Given the description of an element on the screen output the (x, y) to click on. 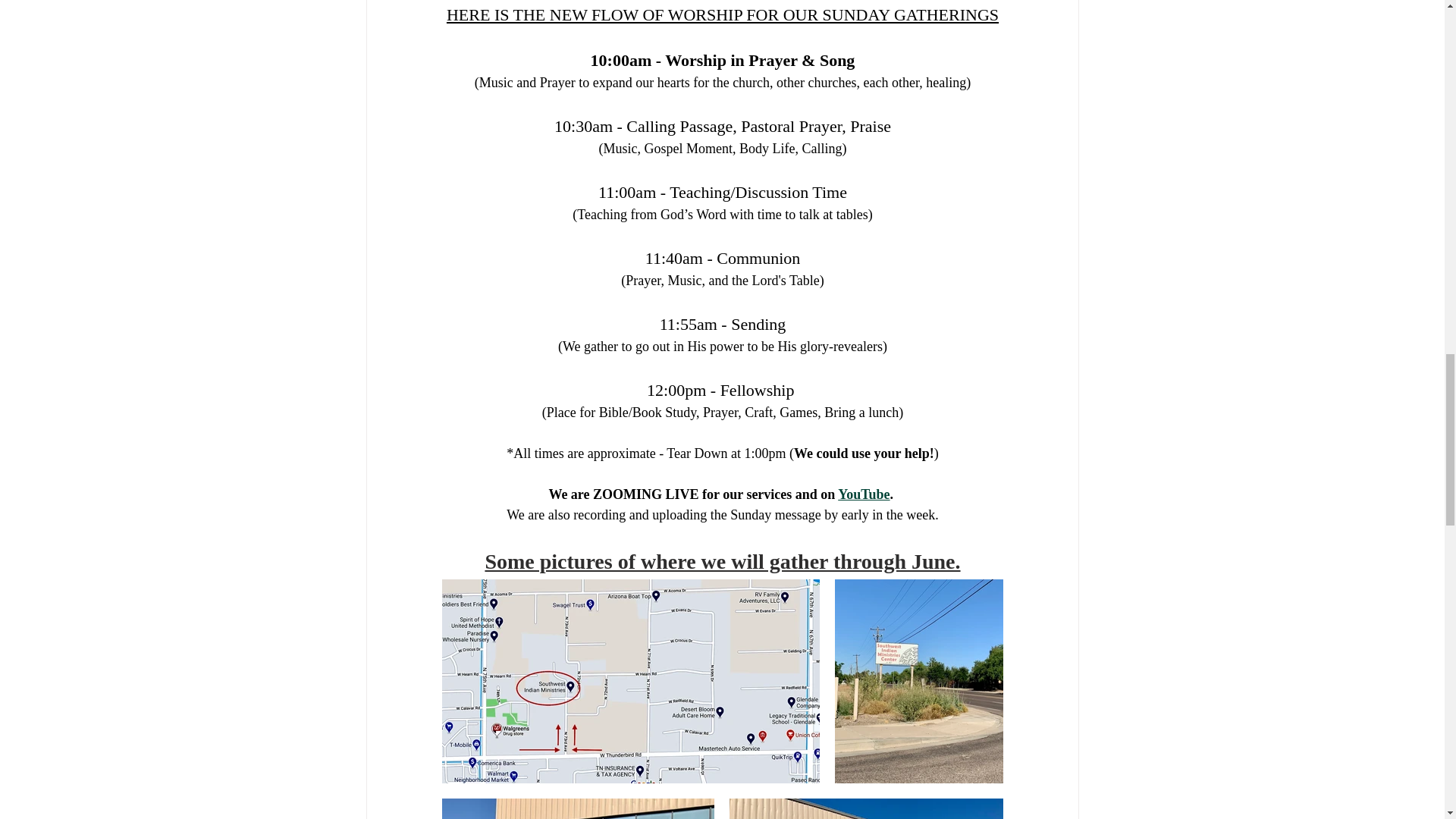
YouTube (863, 494)
